Given the description of an element on the screen output the (x, y) to click on. 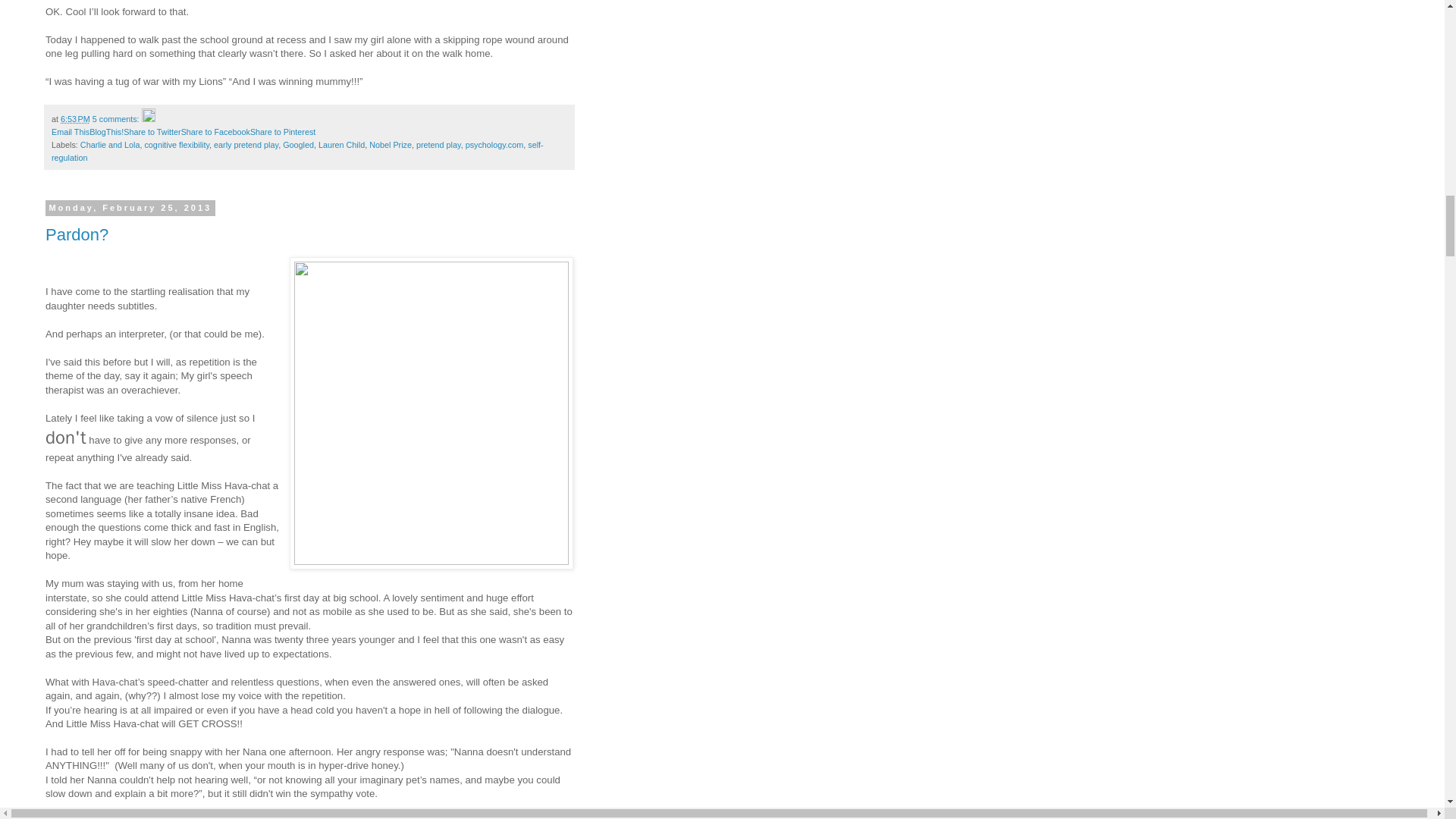
Share to Twitter (151, 131)
BlogThis! (105, 131)
Email This (69, 131)
Nobel Prize (390, 144)
Pardon? (76, 234)
Share to Facebook (215, 131)
Email This (69, 131)
permanent link (75, 118)
Share to Facebook (215, 131)
self-regulation (296, 151)
psychology.com (494, 144)
pretend play (438, 144)
cognitive flexibility (176, 144)
Edit Post (148, 118)
